Given the description of an element on the screen output the (x, y) to click on. 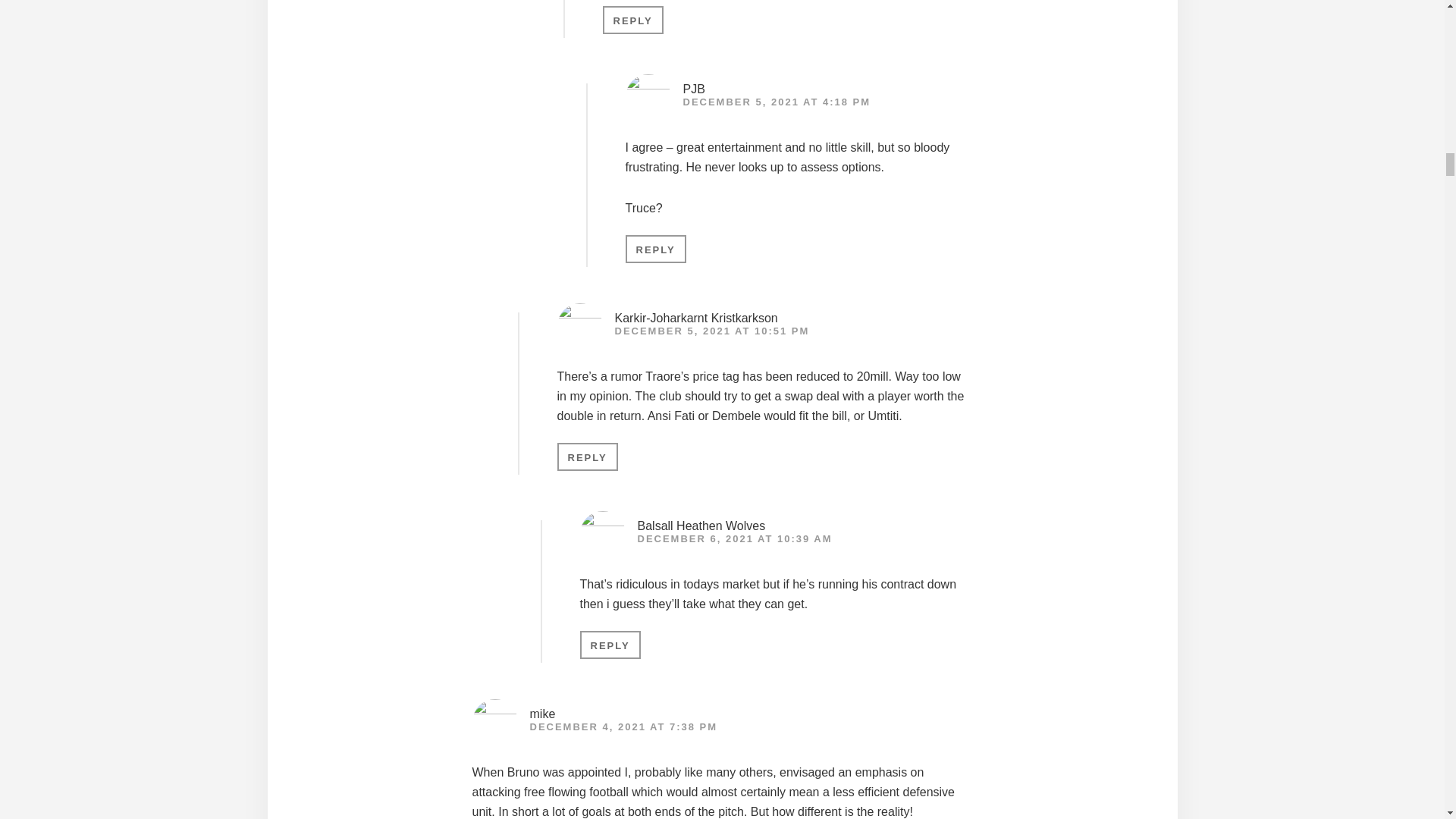
REPLY (632, 19)
DECEMBER 5, 2021 AT 4:18 PM (776, 101)
DECEMBER 5, 2021 AT 10:51 PM (711, 330)
REPLY (654, 248)
